Given the description of an element on the screen output the (x, y) to click on. 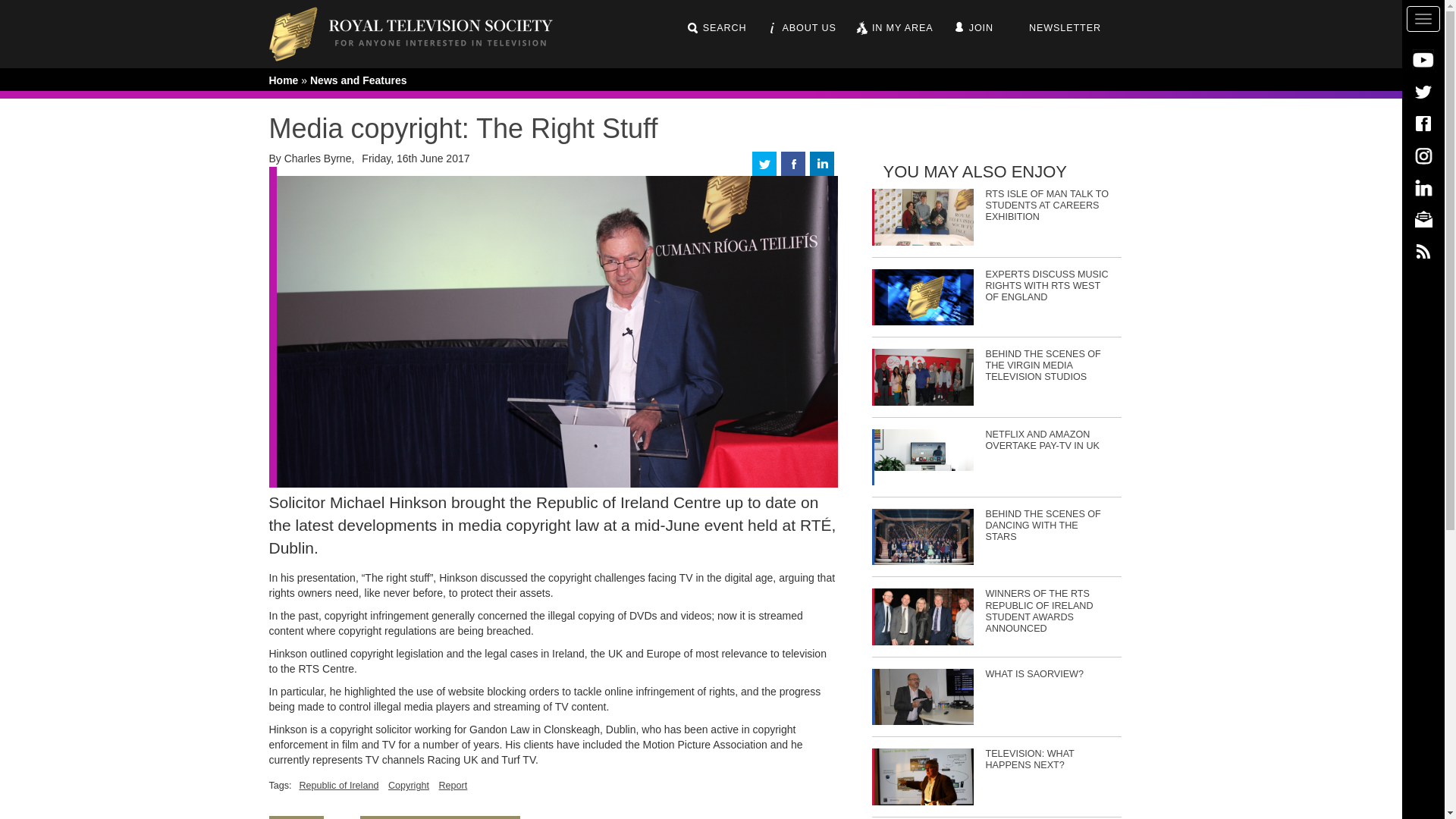
RSS (1423, 250)
Share on LinkedIn (821, 162)
Toggle navigation (1422, 18)
Contact Us (1423, 218)
IN MY AREA (894, 28)
SEARCH (715, 28)
LinkedIn (1423, 186)
Twitter (1423, 91)
Facebook (1423, 123)
